Given the description of an element on the screen output the (x, y) to click on. 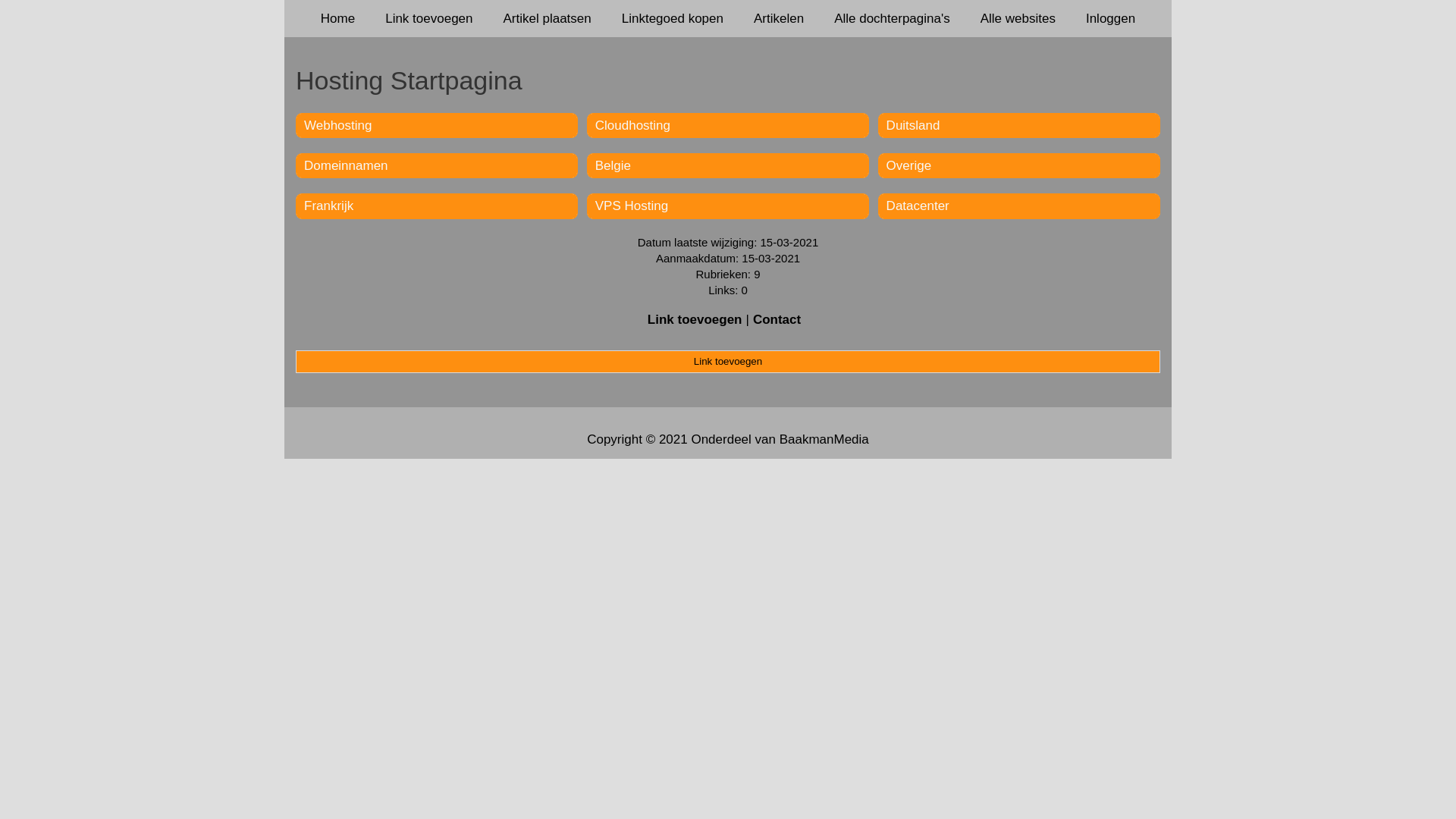
Link toevoegen Element type: text (727, 361)
Webhosting Element type: text (337, 125)
Contact Element type: text (776, 319)
BaakmanMedia Element type: text (824, 439)
Link toevoegen Element type: text (428, 18)
Artikel plaatsen Element type: text (547, 18)
Datacenter Element type: text (917, 205)
Home Element type: text (337, 18)
Domeinnamen Element type: text (346, 165)
Inloggen Element type: text (1110, 18)
Link toevoegen Element type: text (694, 319)
VPS Hosting Element type: text (631, 205)
Belgie Element type: text (612, 165)
Alle websites Element type: text (1017, 18)
Hosting Startpagina Element type: text (727, 80)
Linktegoed kopen Element type: text (672, 18)
Overige Element type: text (908, 165)
Alle dochterpagina's Element type: text (892, 18)
Cloudhosting Element type: text (632, 125)
Frankrijk Element type: text (328, 205)
Artikelen Element type: text (778, 18)
Duitsland Element type: text (913, 125)
